Given the description of an element on the screen output the (x, y) to click on. 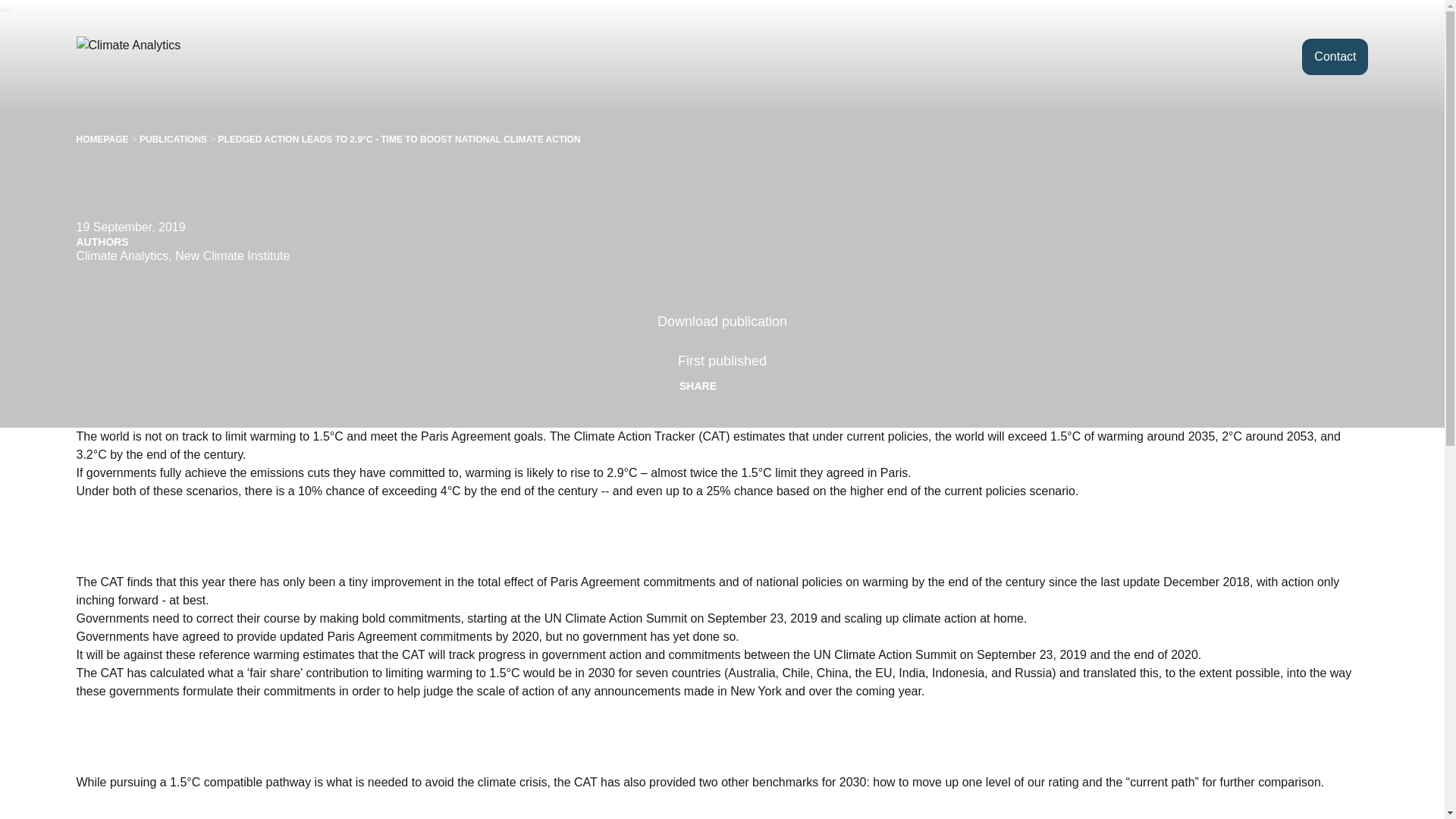
Contact (1334, 55)
Return to homepage (153, 56)
